Given the description of an element on the screen output the (x, y) to click on. 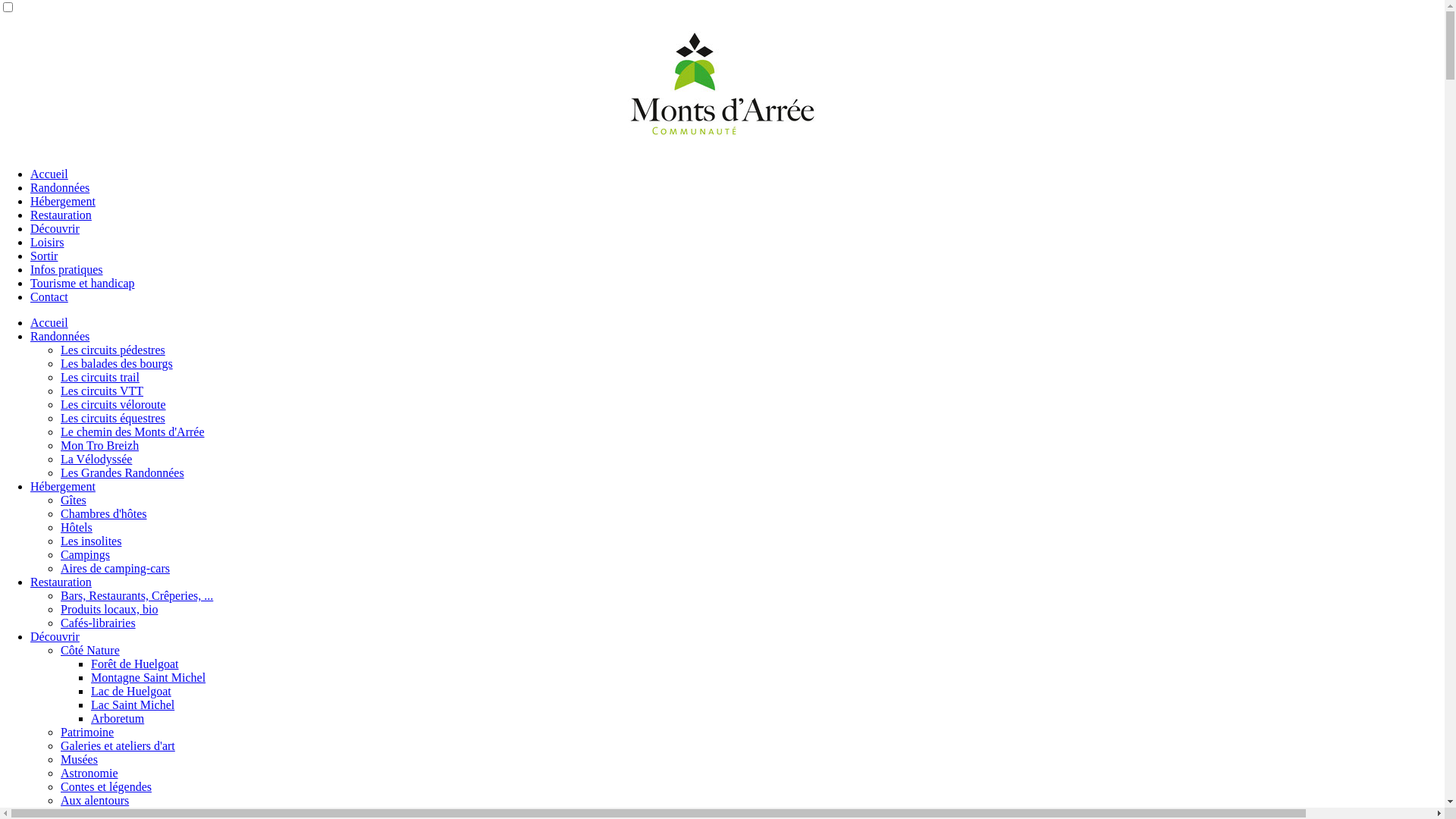
Accueil Element type: text (49, 322)
Restauration Element type: text (60, 214)
Aires de camping-cars Element type: text (114, 567)
Mon Tro Breizh Element type: text (99, 445)
Patrimoine Element type: text (86, 731)
Infos pratiques Element type: text (66, 269)
Accueil Element type: text (49, 173)
Arboretum Element type: text (117, 718)
Loisirs Element type: text (46, 241)
Aux alentours Element type: text (94, 799)
Produits locaux, bio Element type: text (108, 608)
Campings Element type: text (84, 554)
Les insolites Element type: text (90, 540)
Montagne Saint Michel Element type: text (148, 677)
Tourisme et handicap Element type: text (82, 282)
Contact Element type: text (49, 296)
Galeries et ateliers d'art Element type: text (117, 745)
Lac Saint Michel Element type: text (132, 704)
Sortir Element type: text (43, 255)
Les circuits VTT Element type: text (101, 390)
Restauration Element type: text (60, 581)
Lac de Huelgoat Element type: text (131, 690)
Astronomie Element type: text (89, 772)
Les balades des bourgs Element type: text (116, 363)
Les circuits trail Element type: text (99, 376)
